Given the description of an element on the screen output the (x, y) to click on. 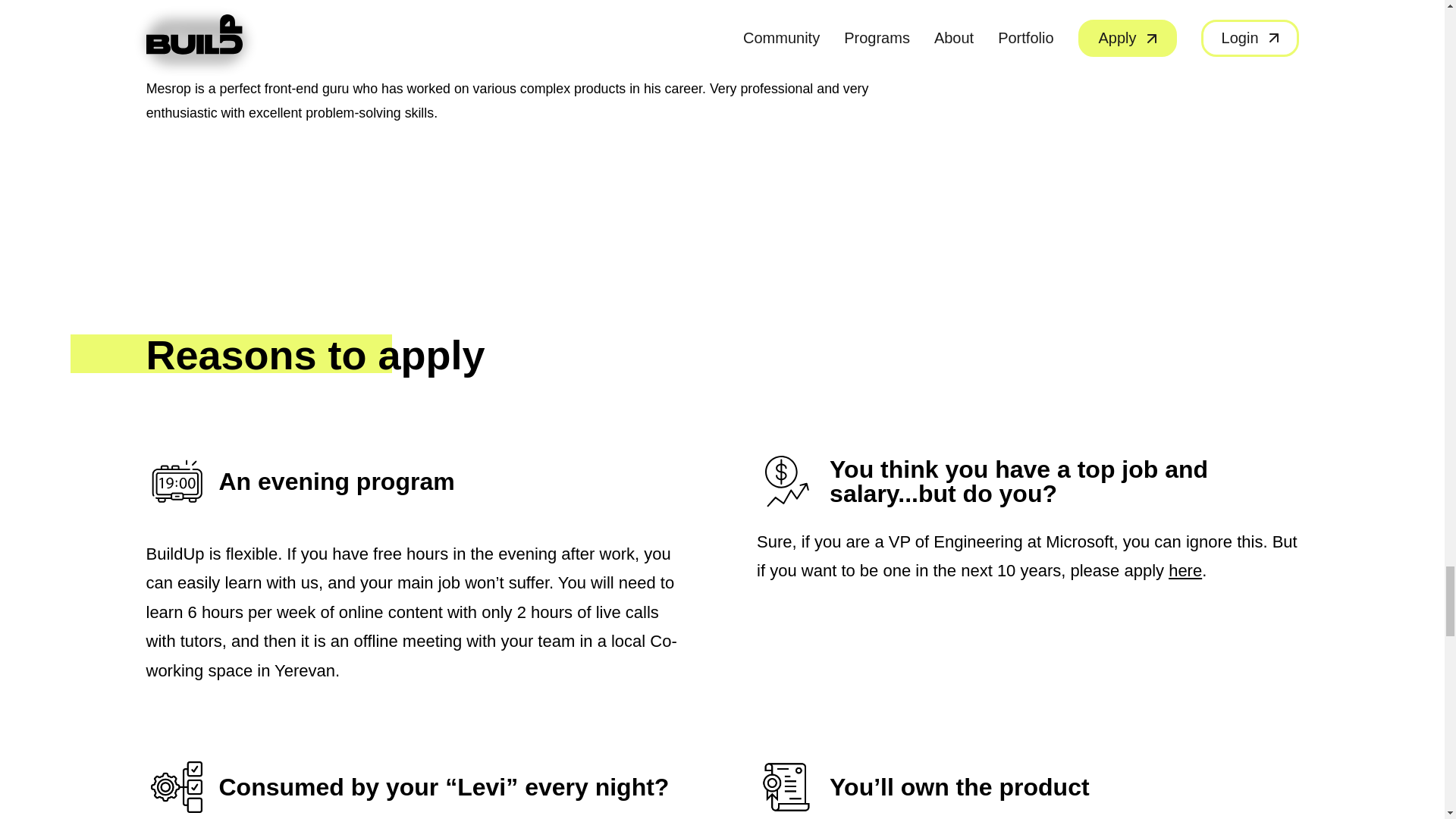
here (1185, 570)
